Given the description of an element on the screen output the (x, y) to click on. 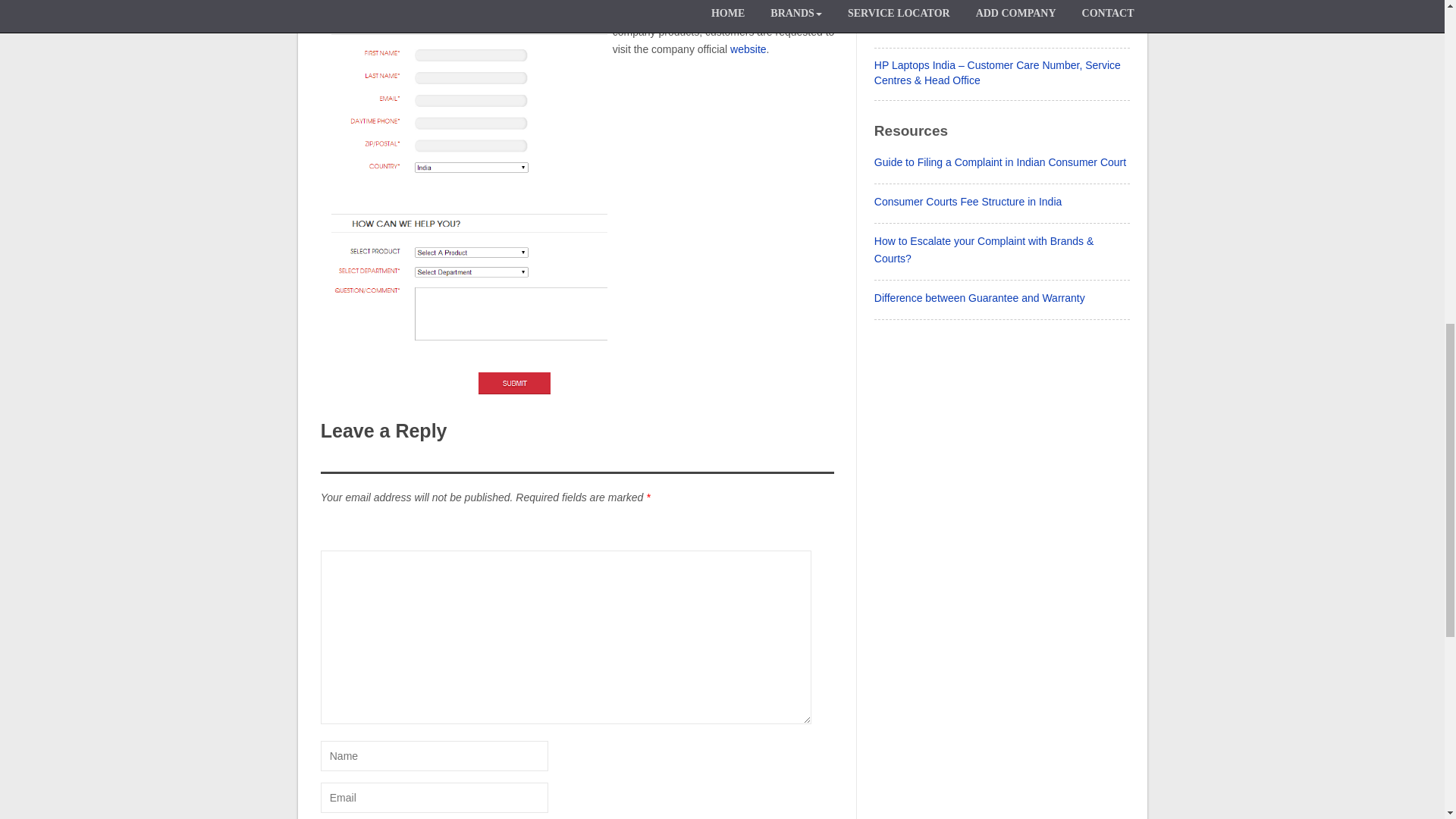
website (747, 49)
website (747, 49)
